Given the description of an element on the screen output the (x, y) to click on. 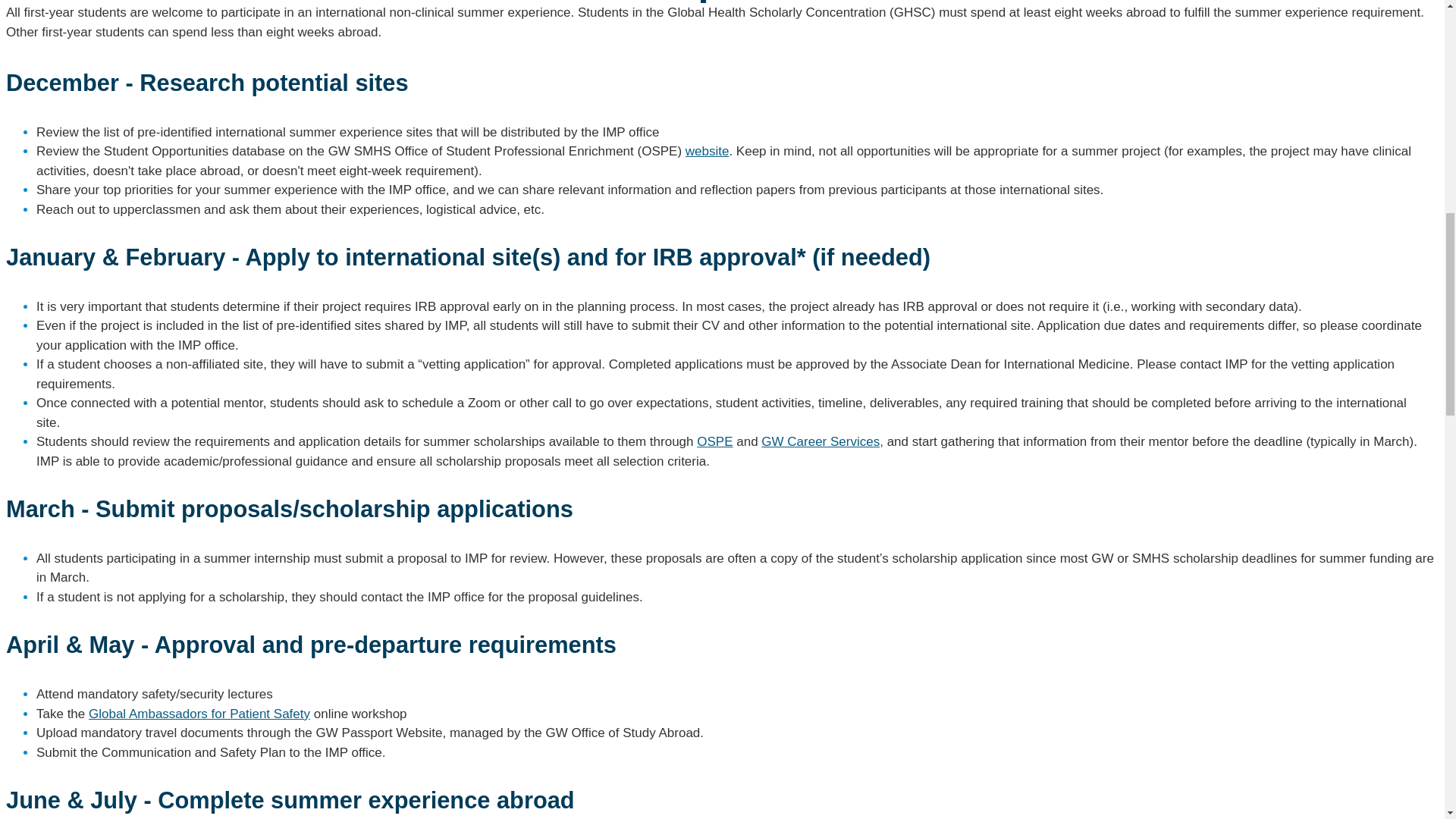
GW Career Services, (822, 441)
OSPE (714, 441)
website (707, 151)
Global Ambassadors for Patient Safety (199, 713)
